Given the description of an element on the screen output the (x, y) to click on. 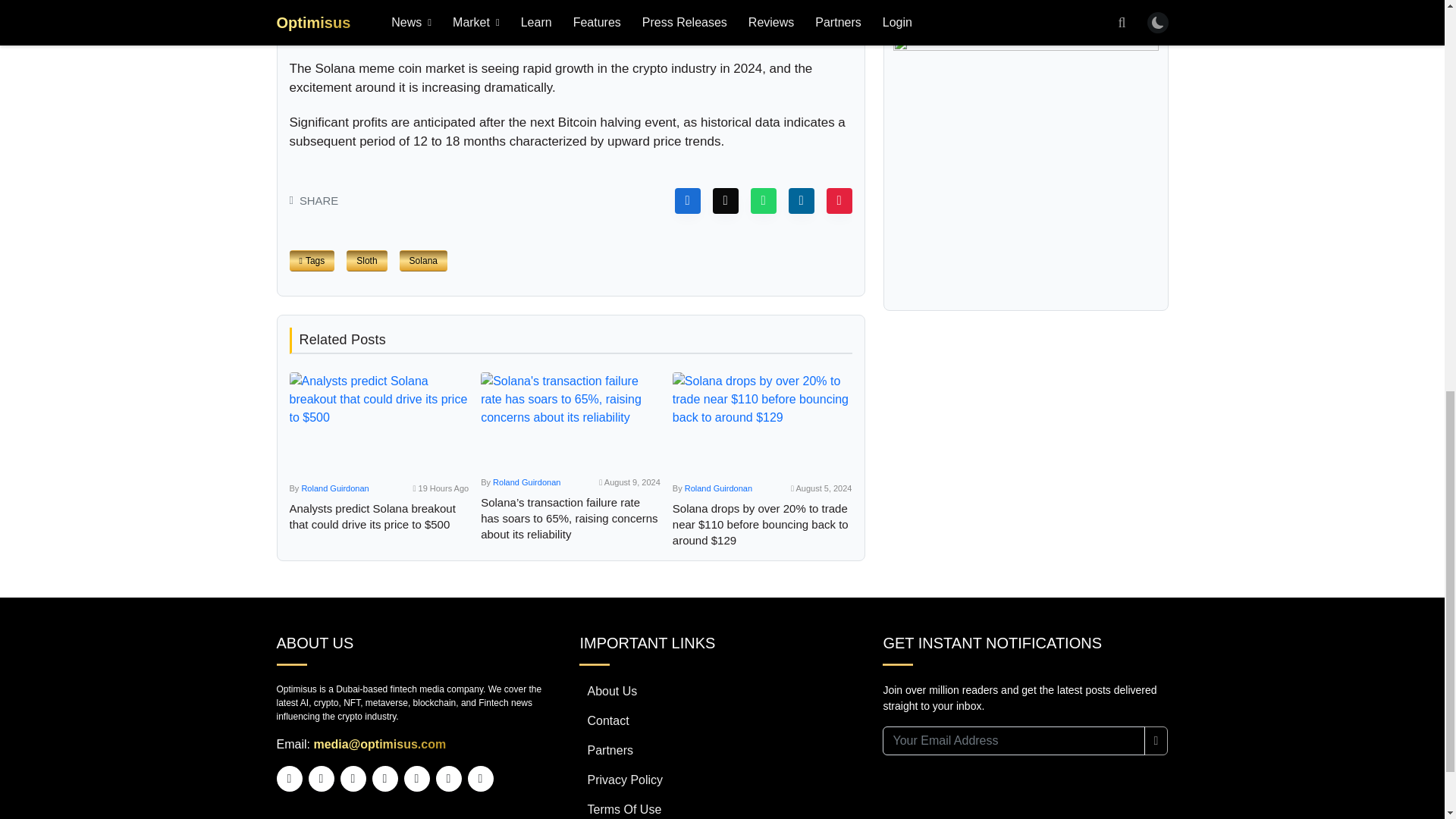
Roland Guirdonan (334, 488)
Solana (422, 260)
Sloth (366, 260)
